Given the description of an element on the screen output the (x, y) to click on. 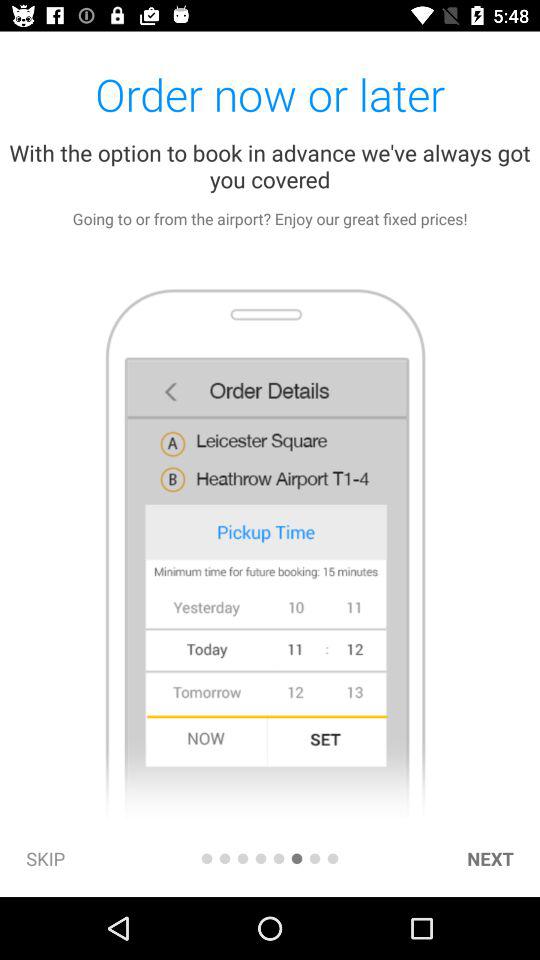
tap item at the bottom right corner (490, 858)
